Given the description of an element on the screen output the (x, y) to click on. 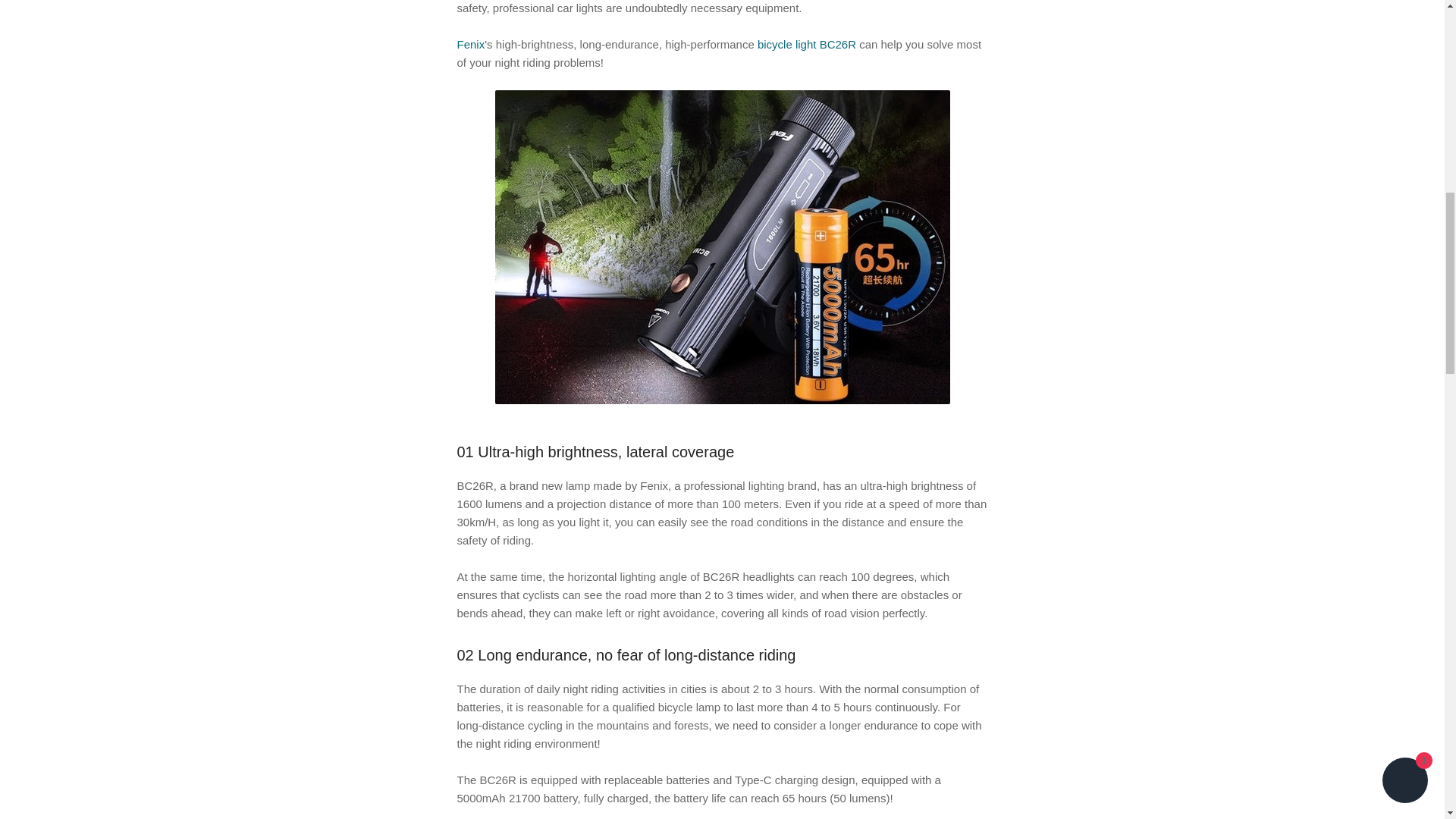
bicycle-light (806, 43)
fenix (470, 43)
